Given the description of an element on the screen output the (x, y) to click on. 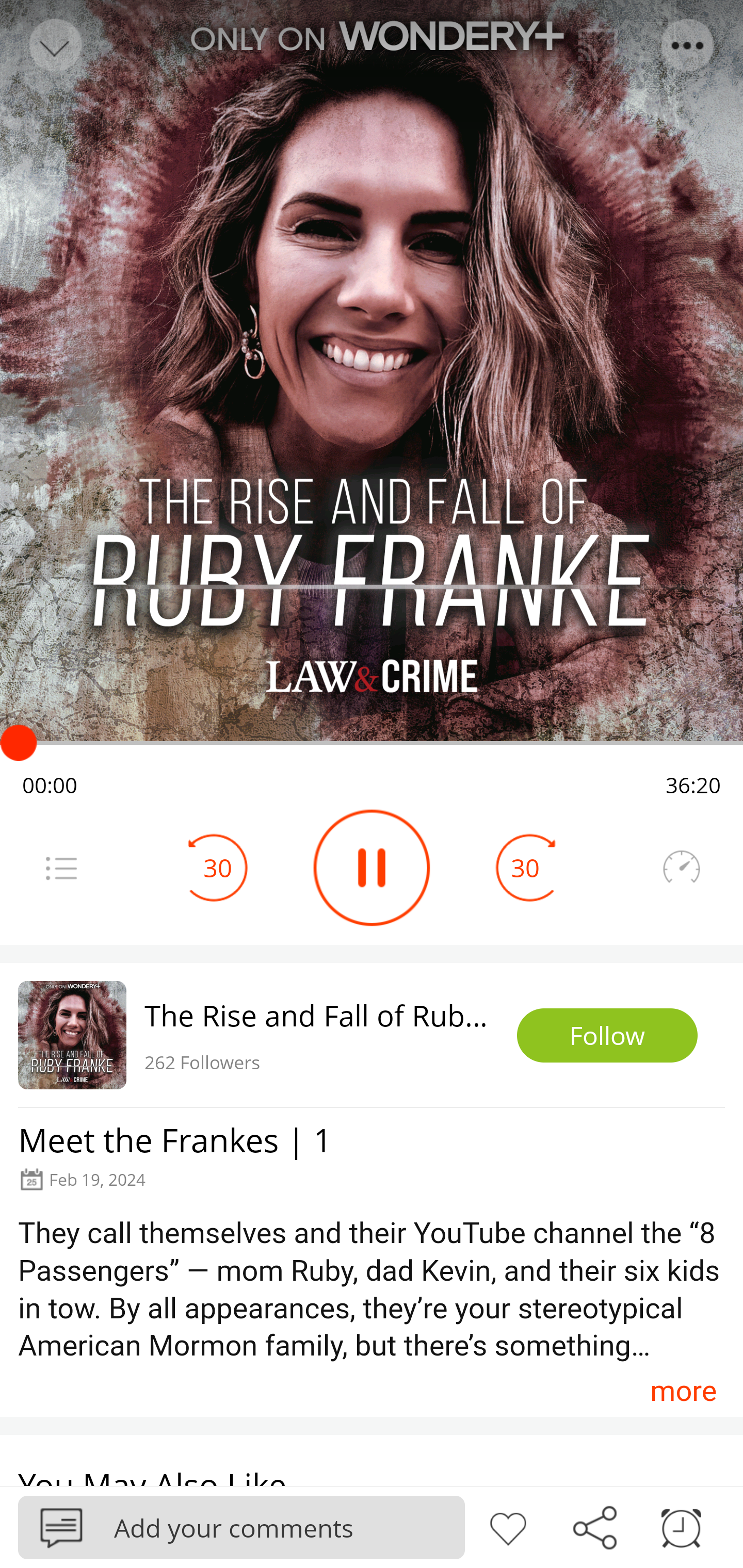
Back (53, 45)
Cast. Disconnected (597, 45)
Menu (688, 45)
Play (371, 867)
30 Seek Backward (217, 867)
30 Seek Forward (525, 867)
Menu (60, 867)
Speedometer (681, 867)
Follow (607, 1035)
more (682, 1390)
Like (508, 1526)
Share (594, 1526)
Sleep timer (681, 1526)
Podbean Add your comments (241, 1526)
